Given the description of an element on the screen output the (x, y) to click on. 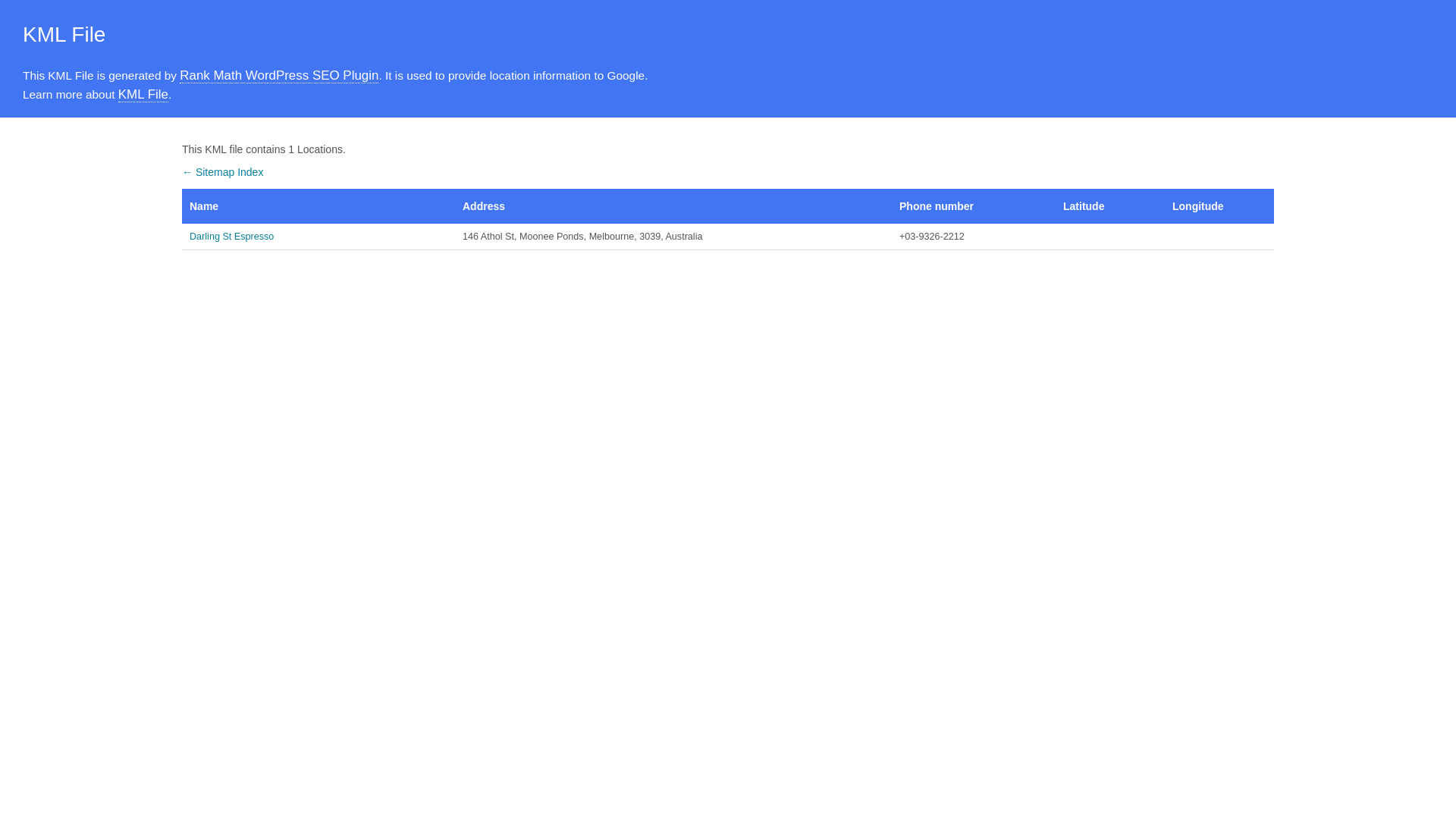
KML File Element type: text (143, 94)
Darling St Espresso Element type: text (318, 236)
Rank Math WordPress SEO Plugin Element type: text (278, 75)
